Given the description of an element on the screen output the (x, y) to click on. 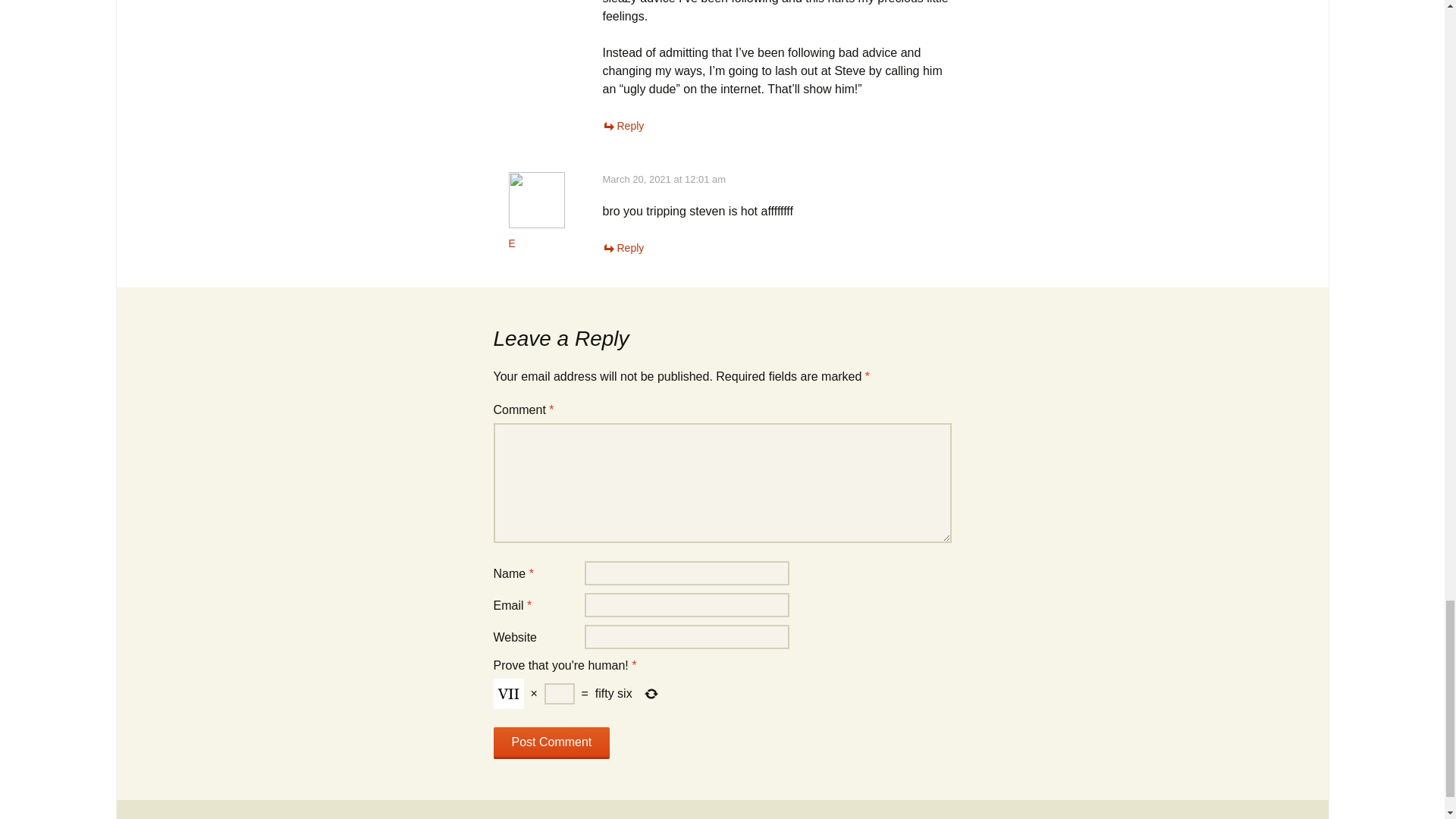
March 20, 2021 at 12:01 am (663, 179)
Post Comment (551, 743)
Reply (622, 247)
Reply (622, 125)
Post Comment (551, 743)
